Given the description of an element on the screen output the (x, y) to click on. 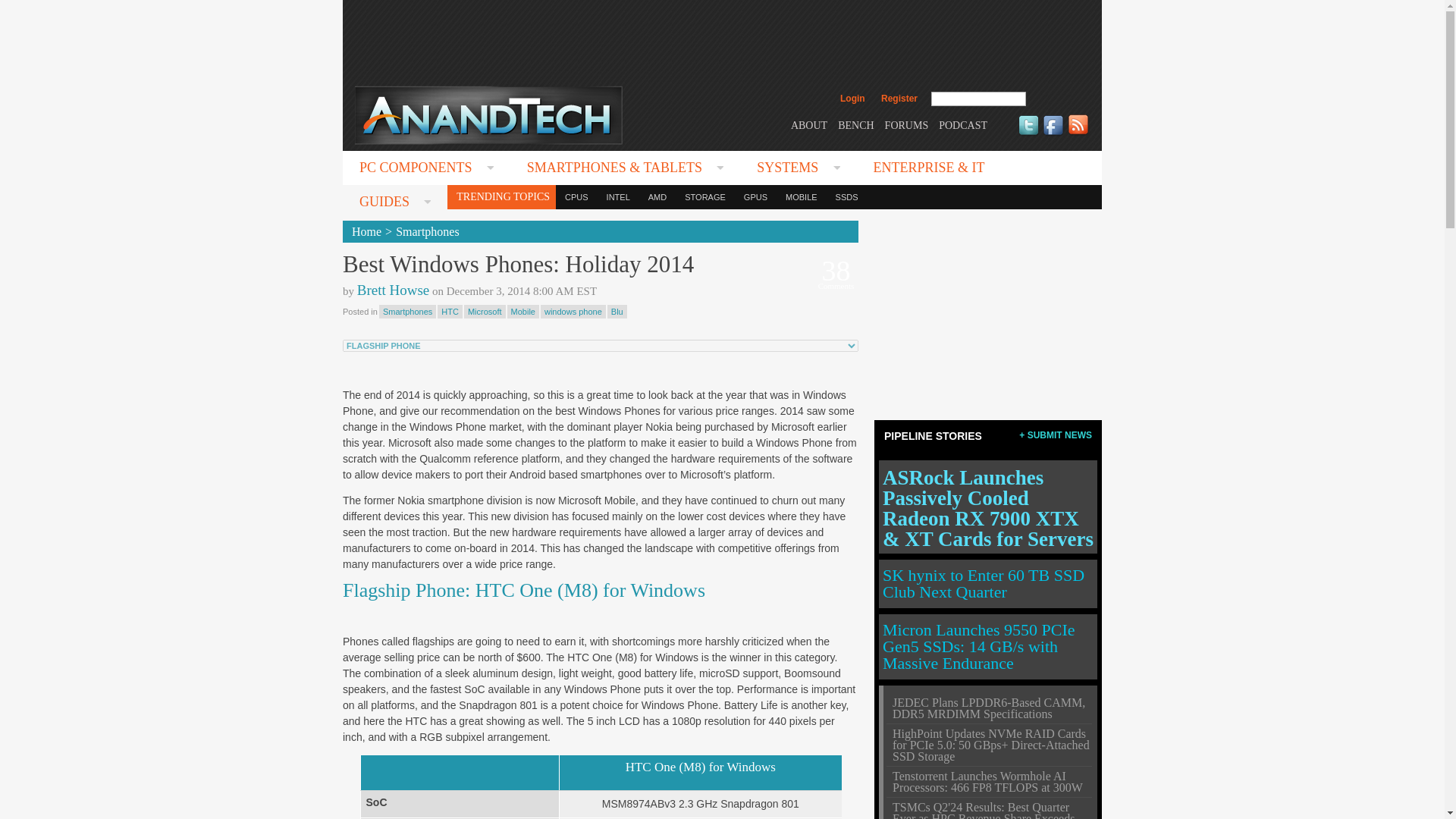
search (1059, 98)
ABOUT (808, 125)
search (1059, 98)
Register (898, 98)
FORUMS (906, 125)
Login (852, 98)
search (1059, 98)
PODCAST (963, 125)
BENCH (855, 125)
